Given the description of an element on the screen output the (x, y) to click on. 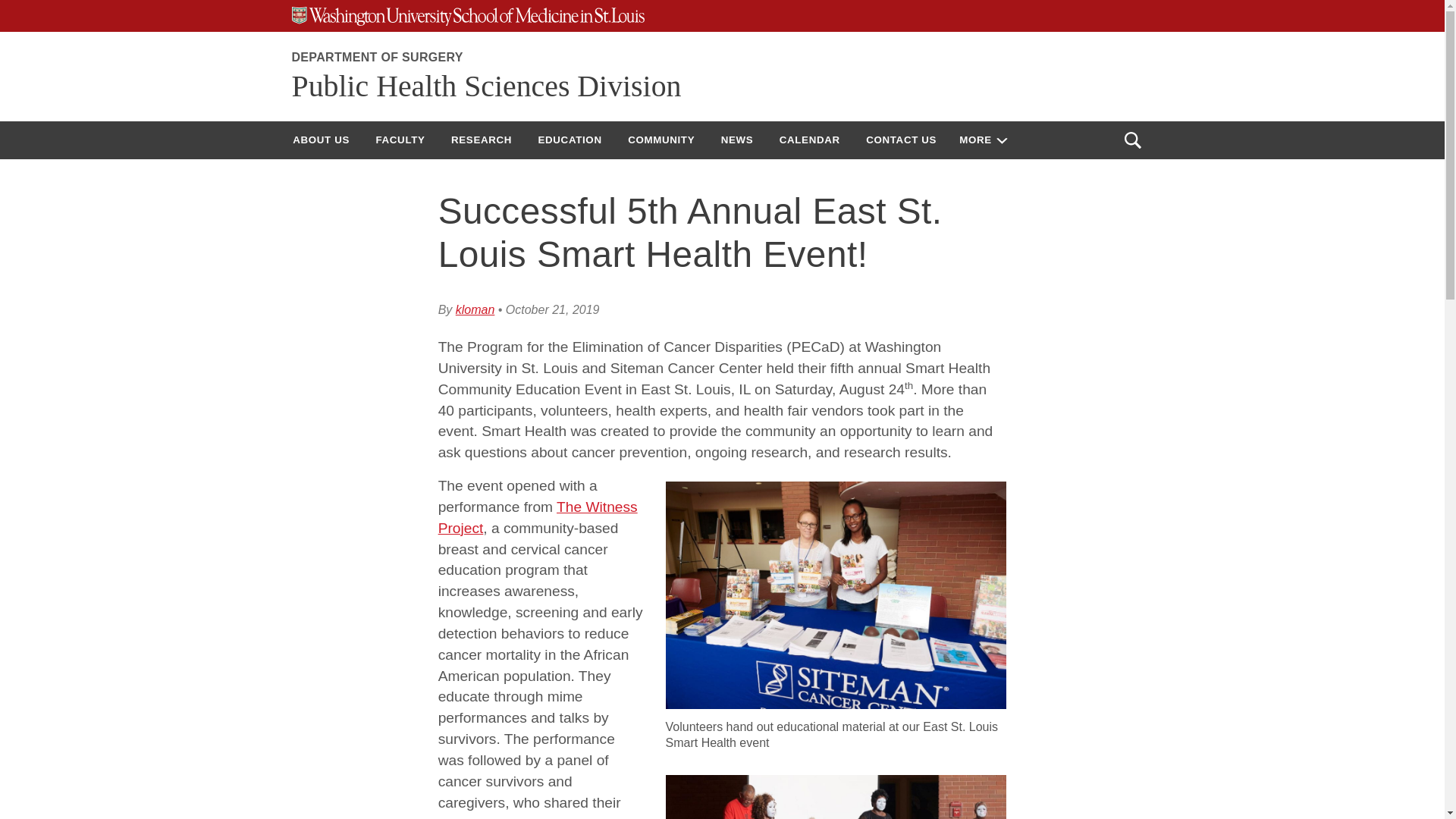
Posts by kloman (475, 309)
RESEARCH (480, 139)
FACULTY (399, 139)
EDUCATION (569, 139)
Public Health Sciences Division (486, 86)
ABOUT US (321, 139)
